Given the description of an element on the screen output the (x, y) to click on. 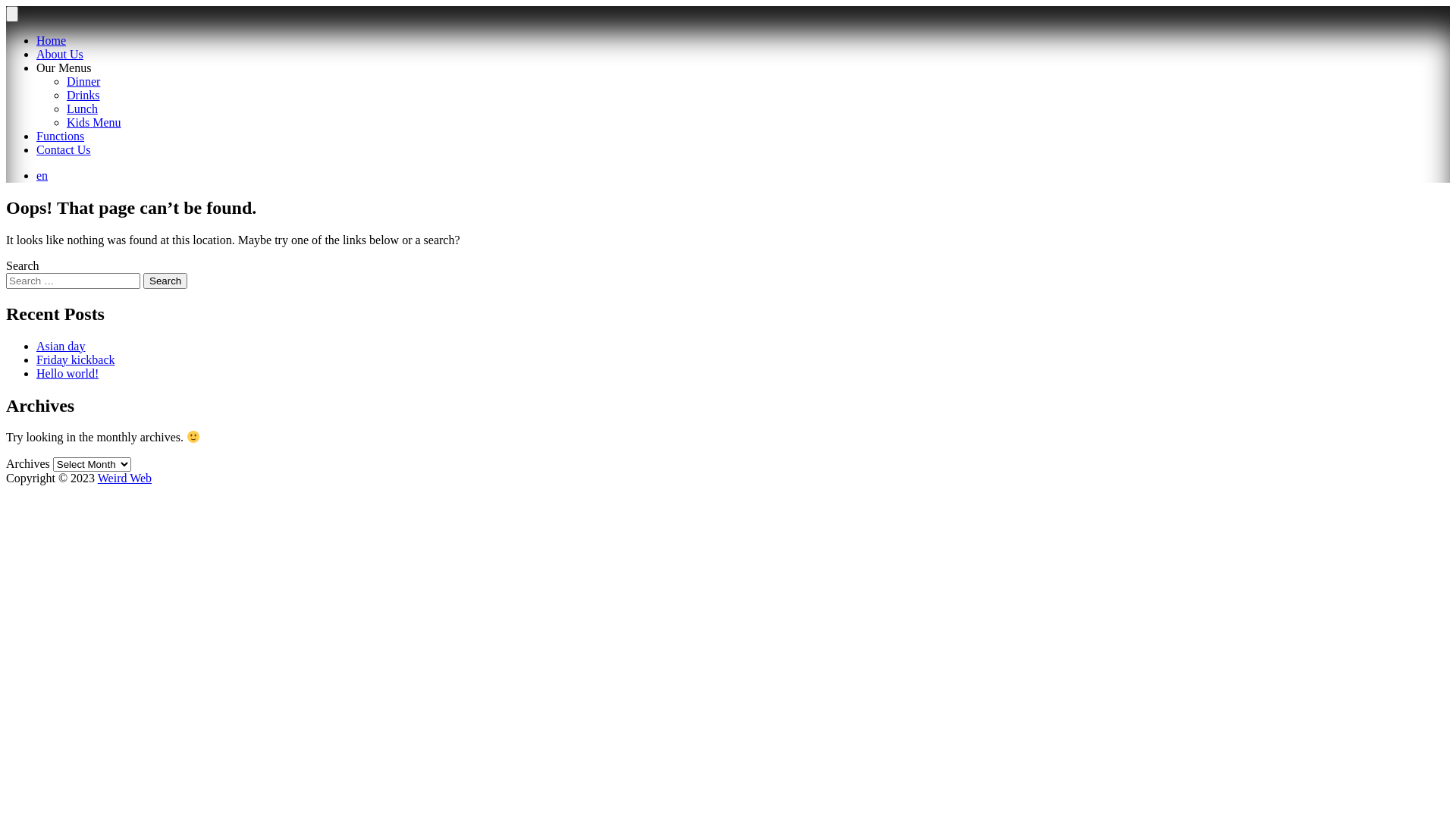
Dinner Element type: text (83, 81)
Skip to content Element type: text (5, 5)
Weird Web Element type: text (124, 477)
Friday kickback Element type: text (75, 359)
Functions Element type: text (60, 135)
Contact Us Element type: text (63, 149)
Our Menus Element type: text (63, 67)
About Us Element type: text (59, 53)
en Element type: text (41, 175)
Search Element type: text (165, 280)
Home Element type: text (50, 40)
Asian day Element type: text (60, 345)
Drinks Element type: text (83, 94)
Lunch Element type: text (81, 108)
Hello world! Element type: text (67, 373)
Kids Menu Element type: text (93, 122)
